Given the description of an element on the screen output the (x, y) to click on. 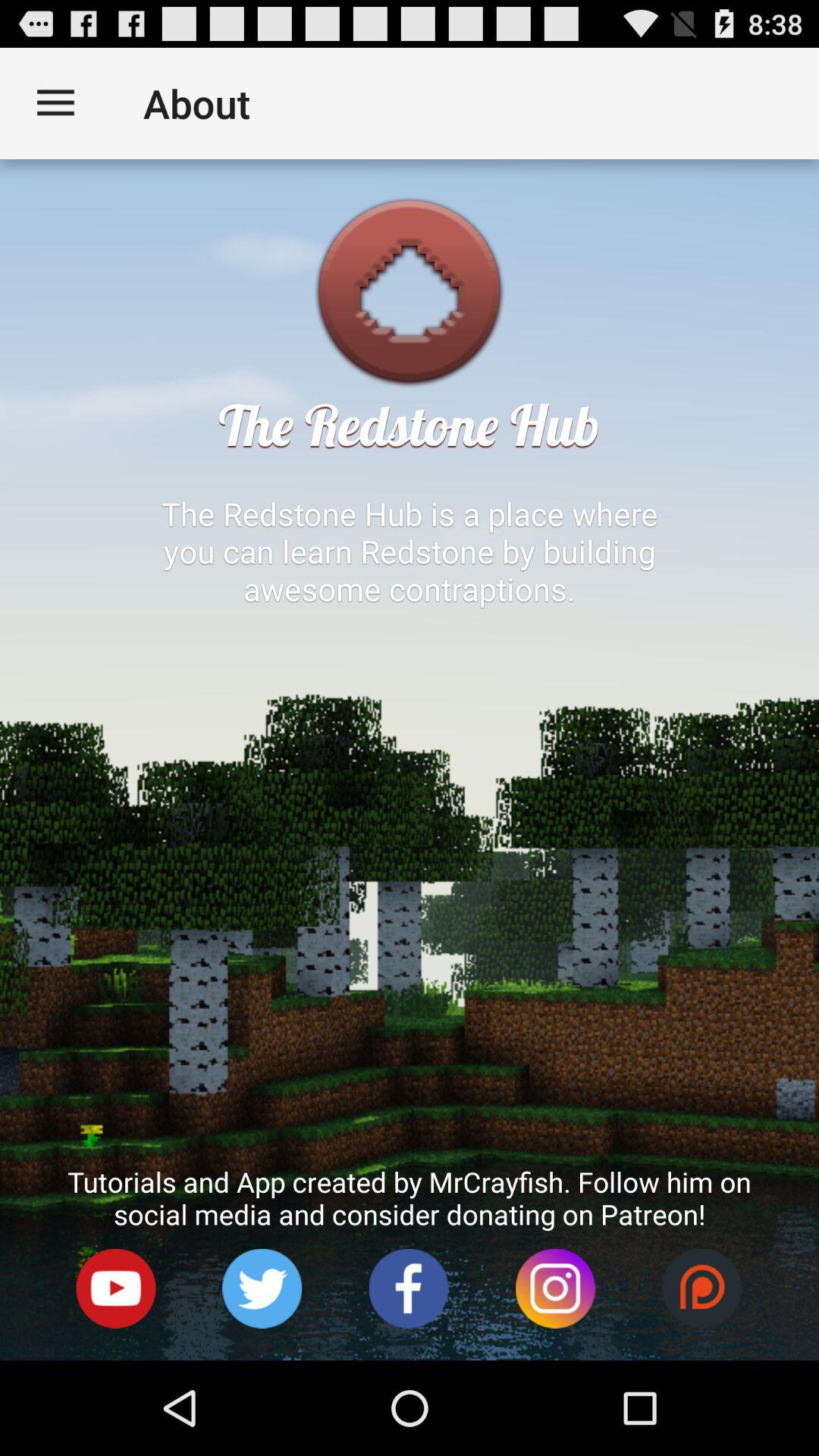
turn off icon below tutorials and app (262, 1288)
